Given the description of an element on the screen output the (x, y) to click on. 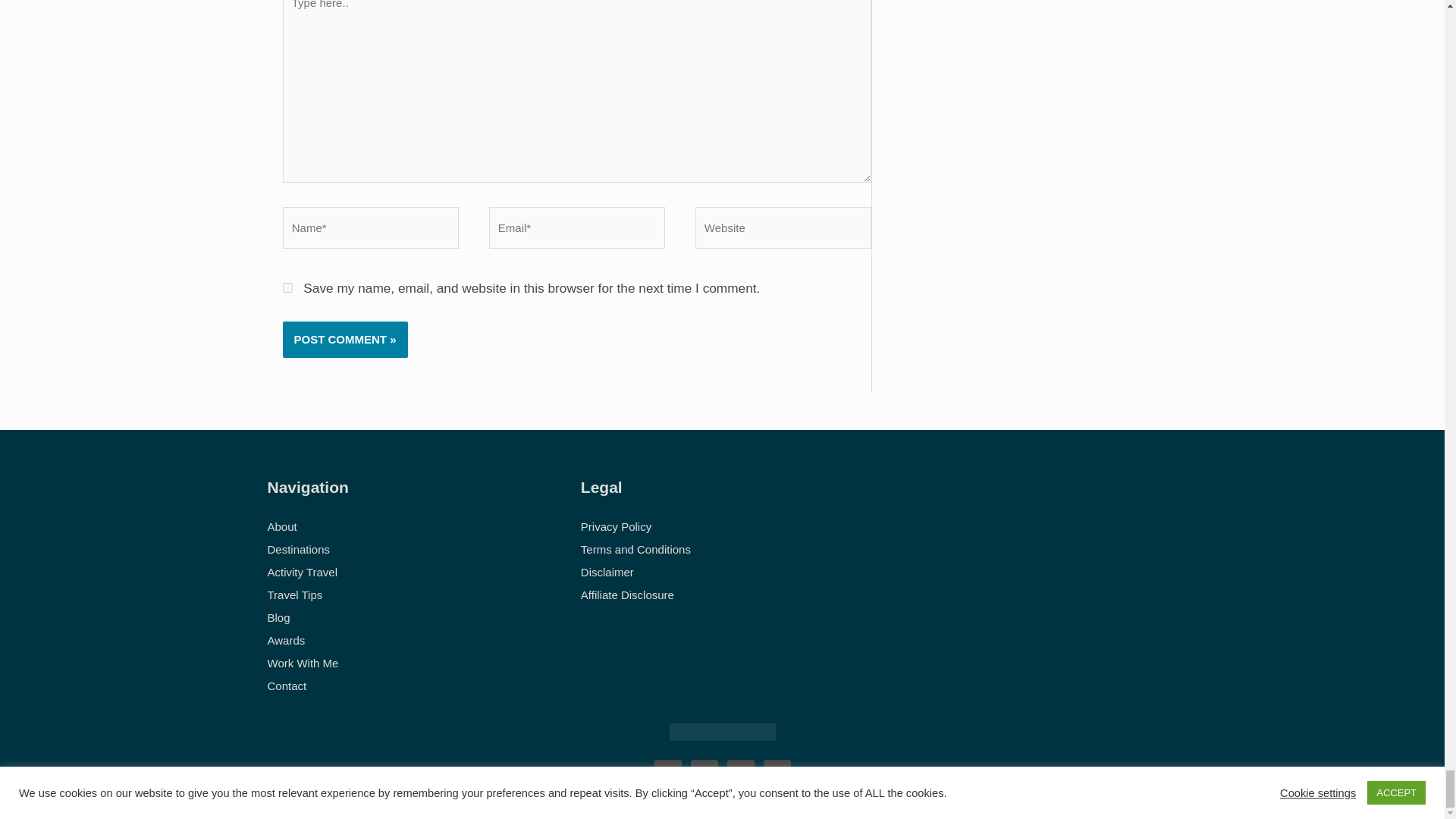
yes (287, 287)
